Given the description of an element on the screen output the (x, y) to click on. 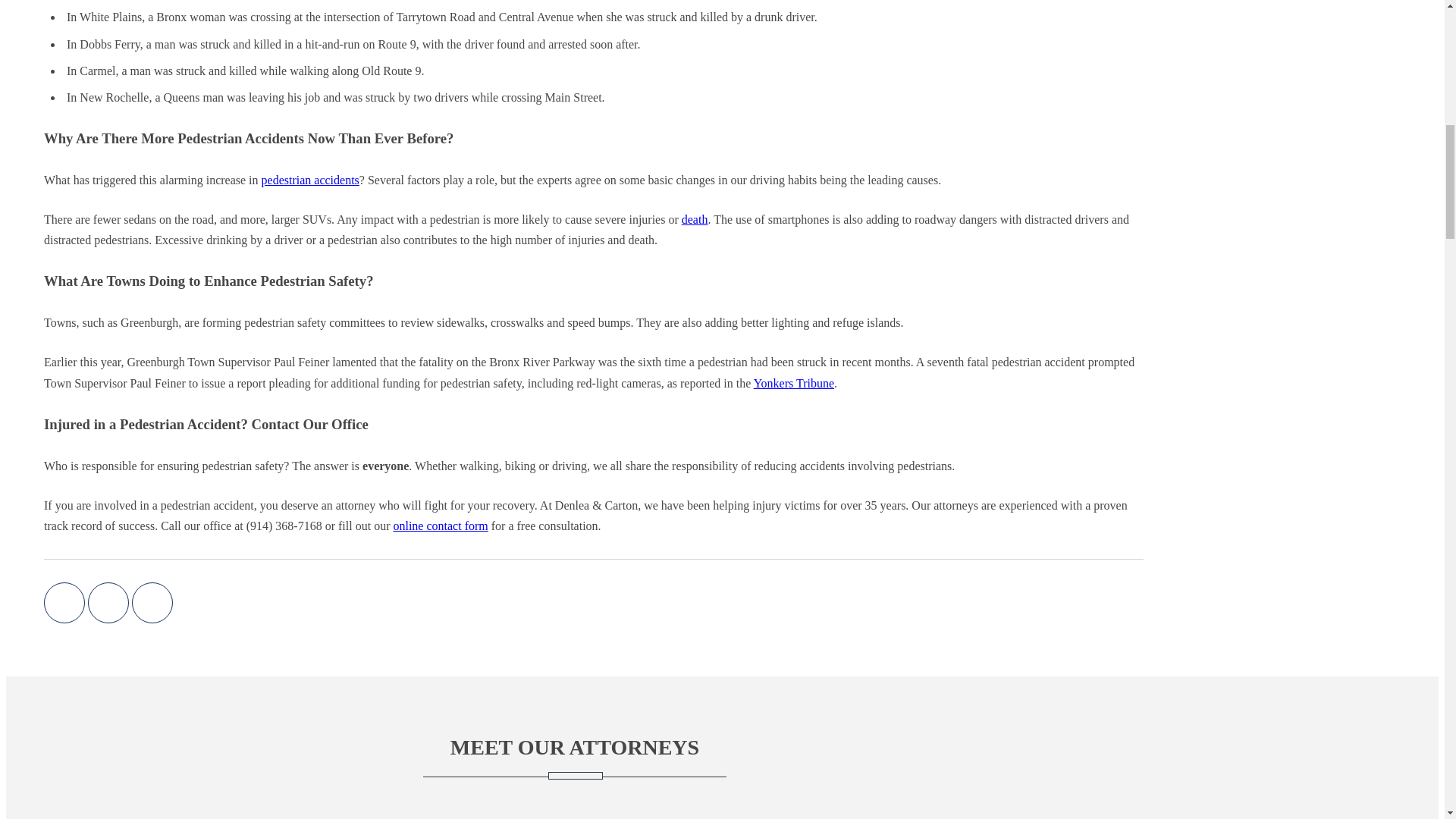
Yonkers Tribune (794, 382)
pedestrian accidents (310, 179)
death (694, 219)
online contact form (440, 525)
